Given the description of an element on the screen output the (x, y) to click on. 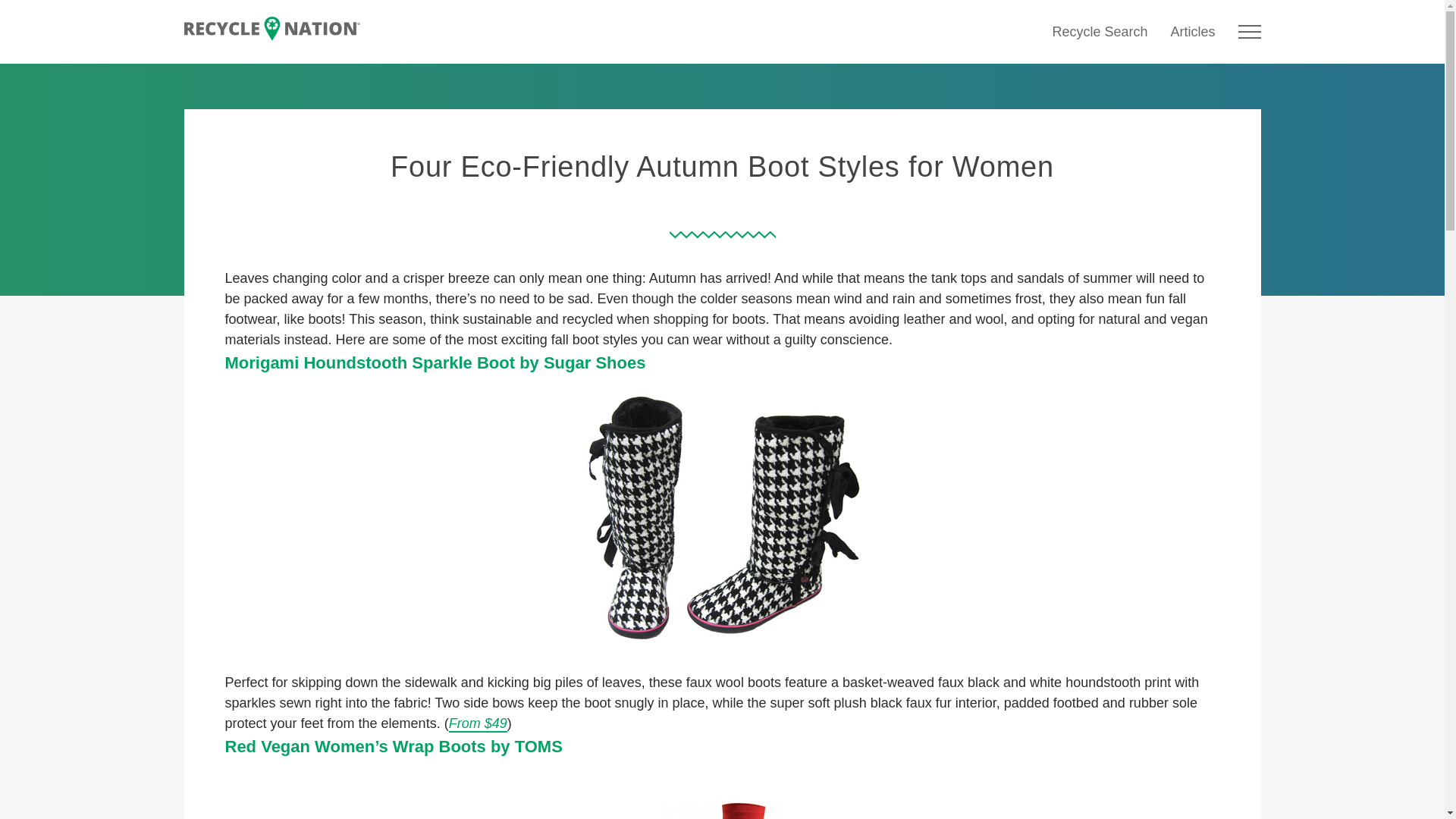
Morigami-Houndstooth-Boot (722, 517)
Recycle Search (1099, 31)
TOMS-Red-Wrap-Boot (722, 790)
Articles (1192, 31)
